Given the description of an element on the screen output the (x, y) to click on. 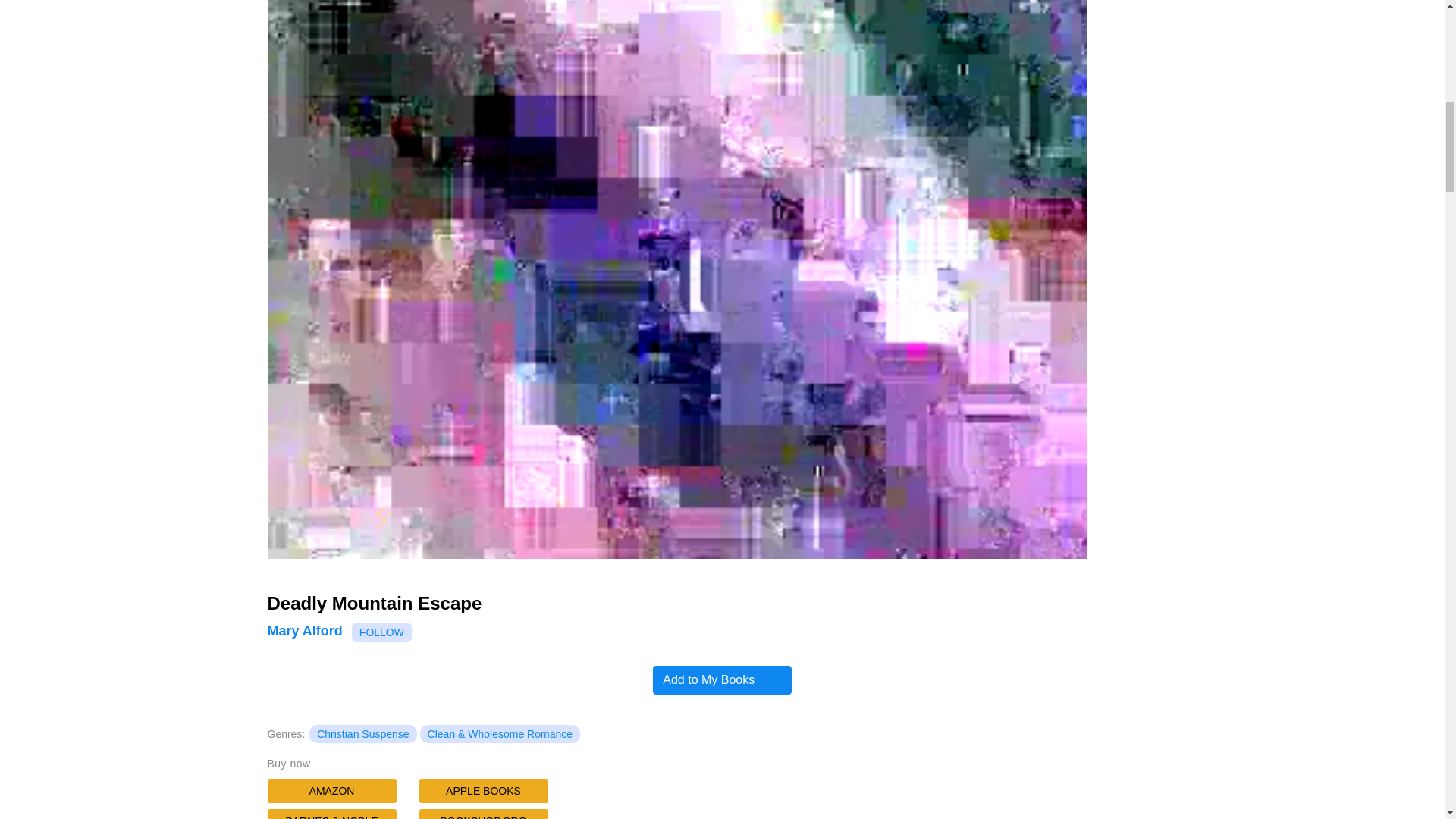
AMAZON (331, 790)
Mary Alford (304, 630)
Add to My Books (721, 679)
Christian Suspense (362, 733)
FOLLOW (382, 632)
APPLE BOOKS (483, 790)
BOOKSHOP.ORG (483, 814)
